Given the description of an element on the screen output the (x, y) to click on. 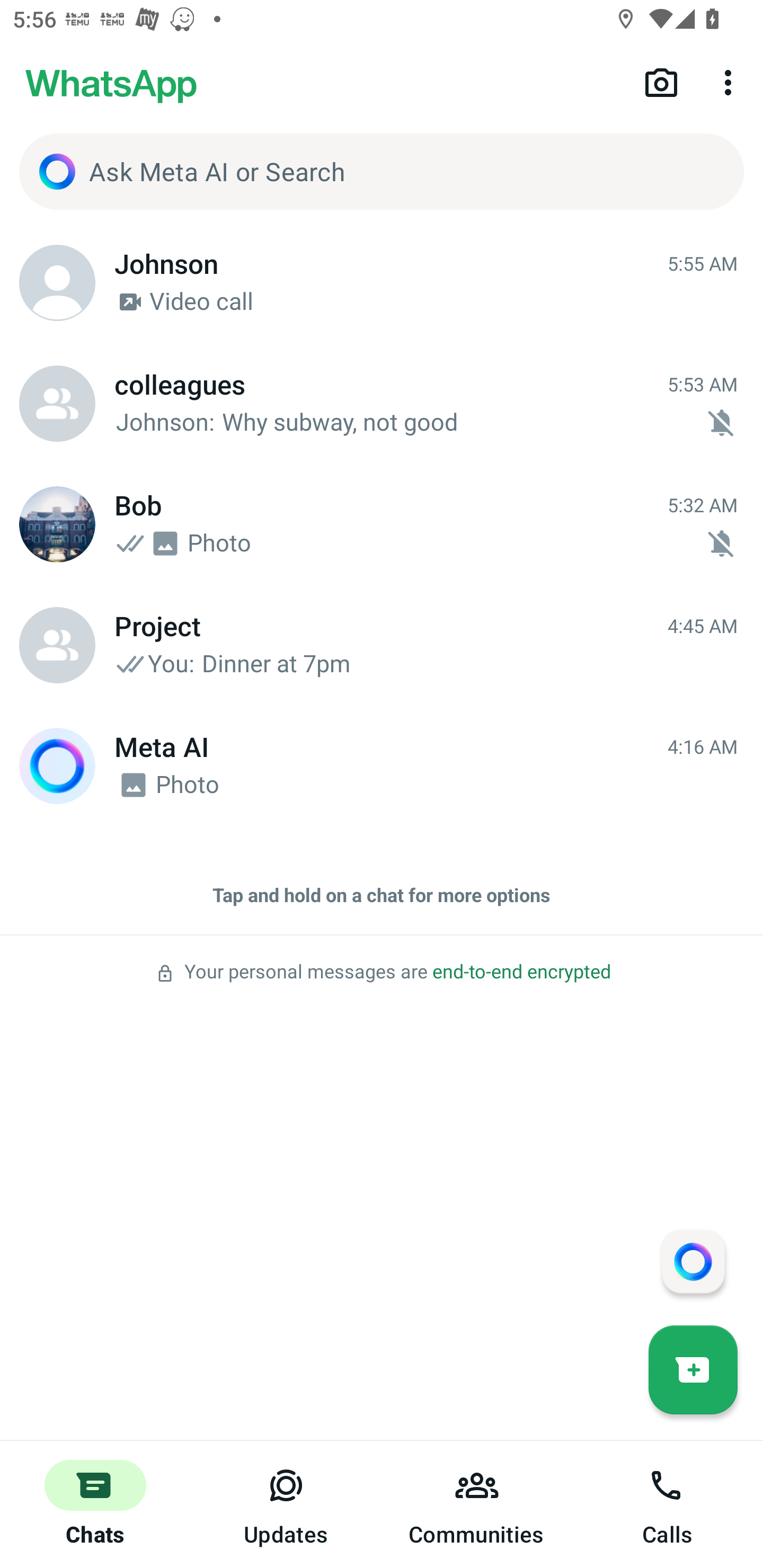
Camera (661, 81)
More options (731, 81)
Johnson Johnson 5:55 AM 5:55 AM Video call (381, 282)
Johnson (57, 282)
colleagues (57, 403)
Bob Bob 5:32 AM 5:32 AM Photo Mute notifications (381, 524)
Bob (57, 524)
Project (57, 644)
Meta AI Meta AI 4:16 AM 4:16 AM Photo (381, 765)
Meta AI (57, 765)
end-to-end encrypted (521, 972)
Message your assistant (692, 1261)
New chat (692, 1369)
Updates (285, 1504)
Communities (476, 1504)
Calls (667, 1504)
